Given the description of an element on the screen output the (x, y) to click on. 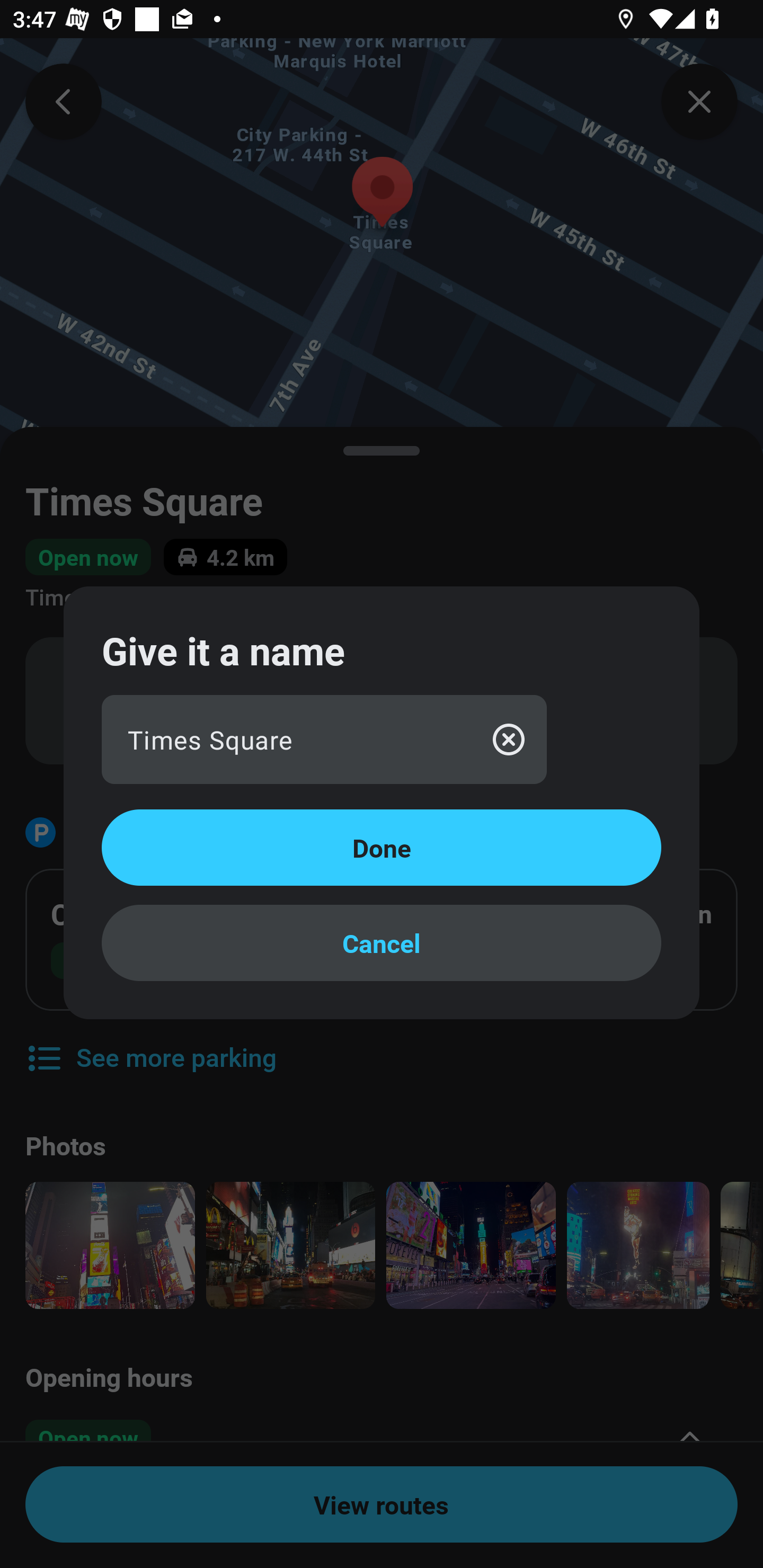
Times Square (324, 739)
Done (381, 847)
Cancel (381, 942)
